Given the description of an element on the screen output the (x, y) to click on. 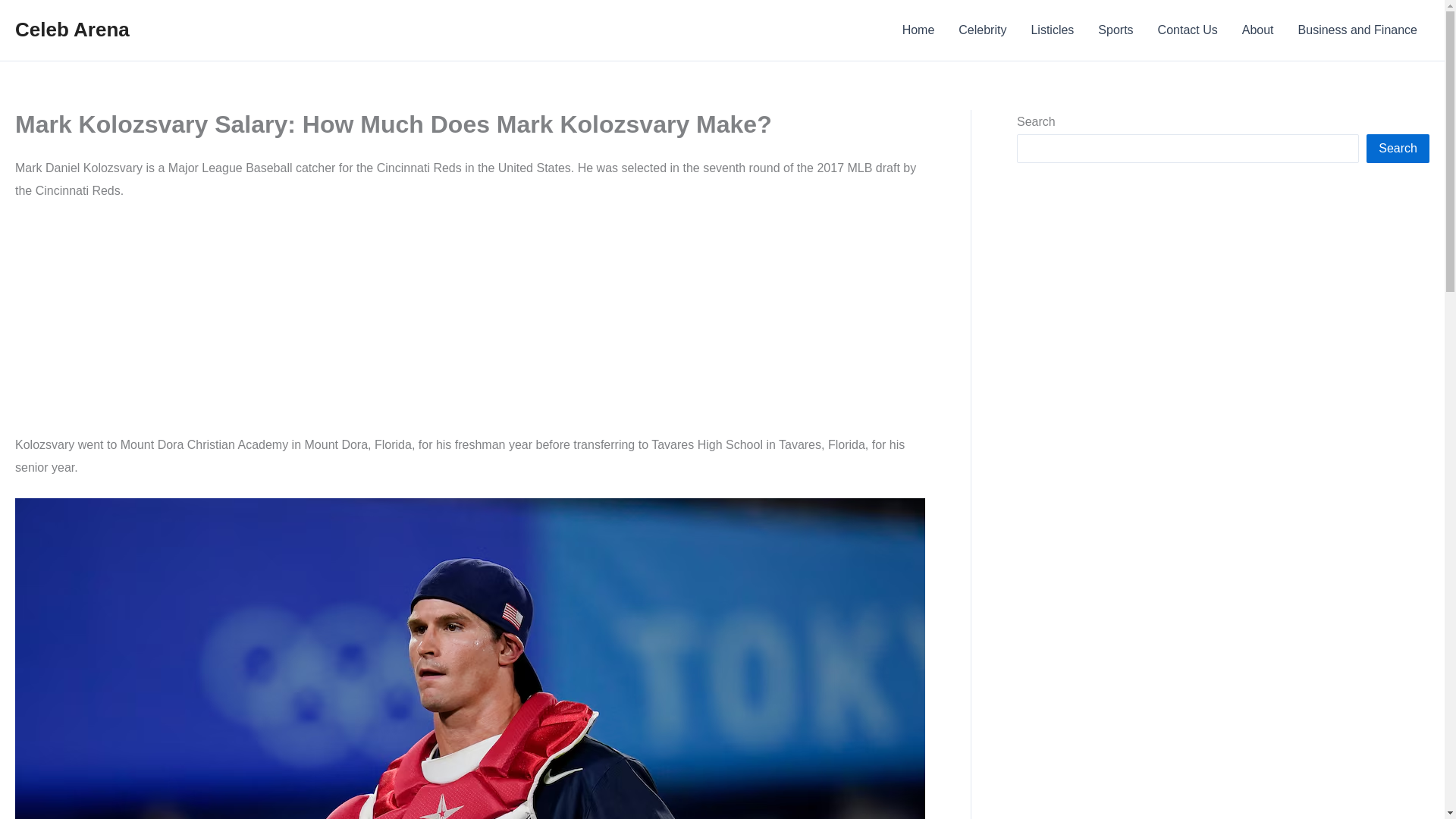
Business and Finance (1357, 30)
About (1257, 30)
Home (918, 30)
Sports (1115, 30)
Celebrity (981, 30)
Listicles (1051, 30)
Contact Us (1187, 30)
Celeb Arena (71, 29)
